Given the description of an element on the screen output the (x, y) to click on. 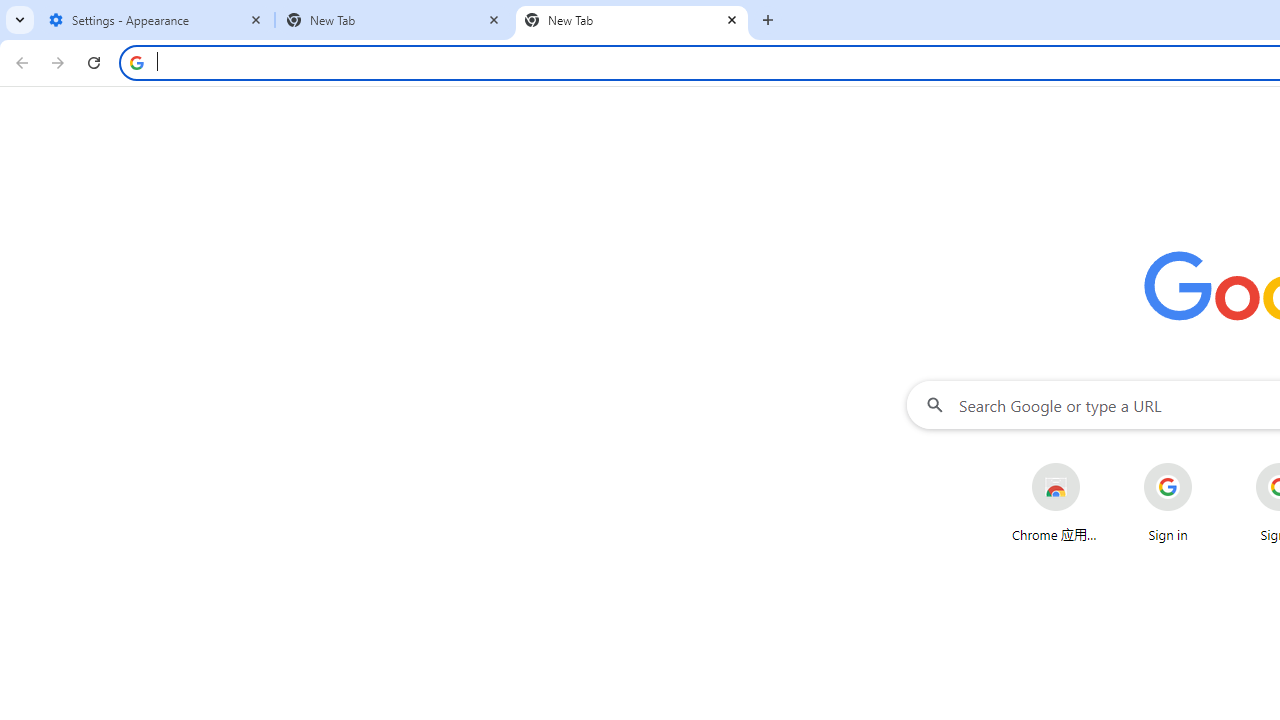
More actions for Sign in shortcut (1208, 464)
New Tab (394, 20)
Settings - Appearance (156, 20)
New Tab (632, 20)
